Given the description of an element on the screen output the (x, y) to click on. 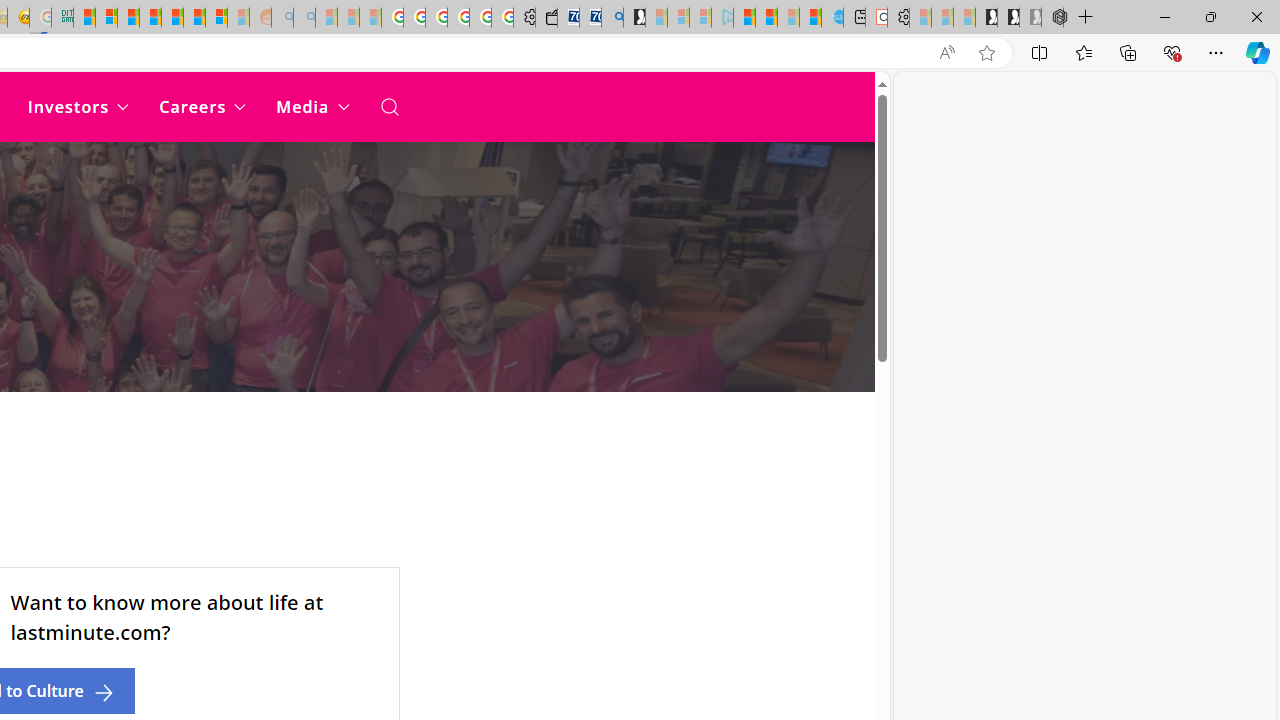
Settings (898, 17)
Bing Real Estate - Home sales and rental listings (612, 17)
Restore (1210, 16)
Read aloud this page (Ctrl+Shift+U) (946, 53)
Microsoft Start Gaming (634, 17)
Close (1256, 16)
New Tab (1085, 17)
New tab (854, 17)
DITOGAMES AG Imprint (62, 17)
